Given the description of an element on the screen output the (x, y) to click on. 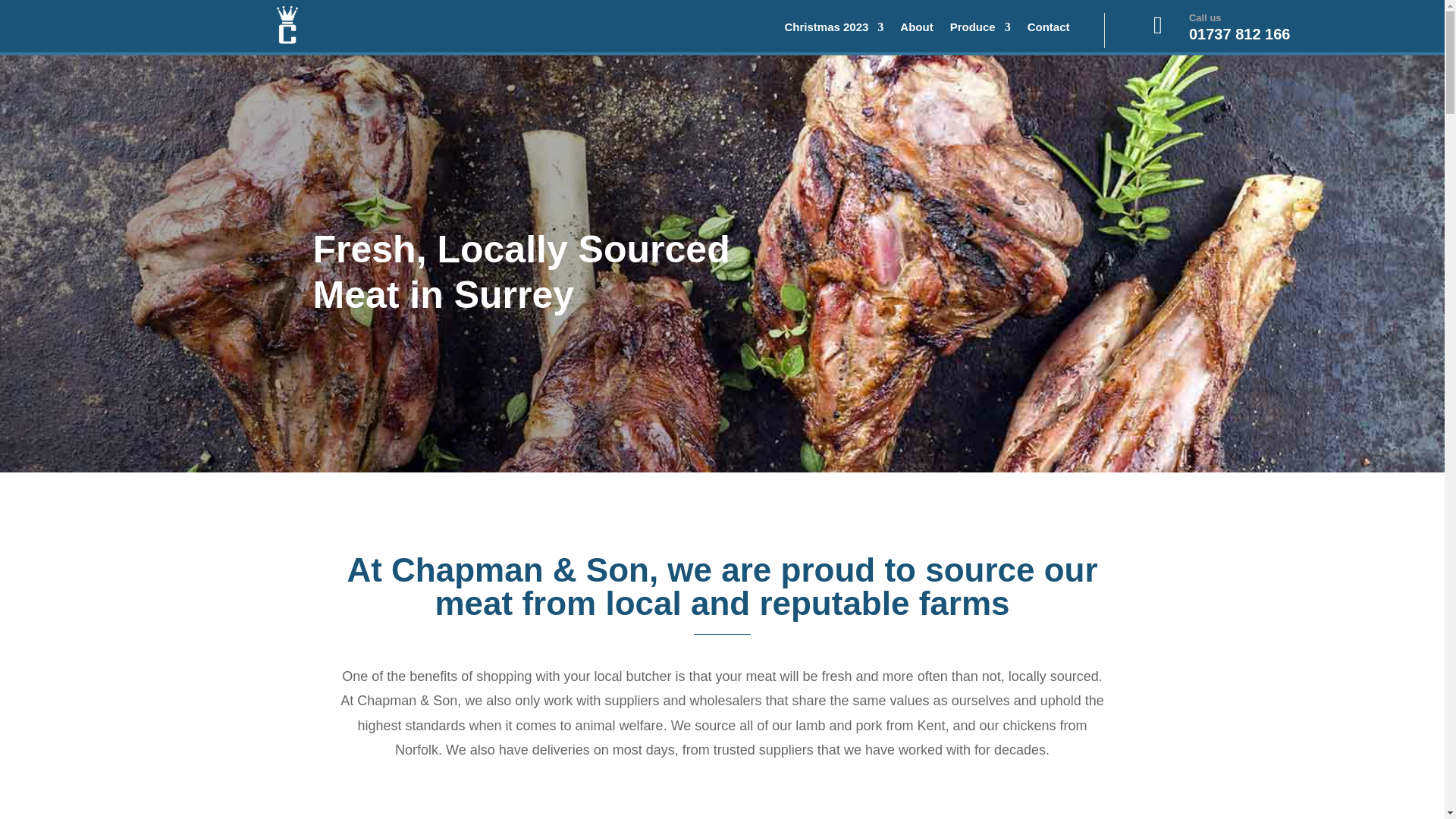
Christmas 2023 (833, 30)
01737 812 166 (1239, 33)
Produce (980, 30)
About (916, 30)
Contact (1048, 30)
